Given the description of an element on the screen output the (x, y) to click on. 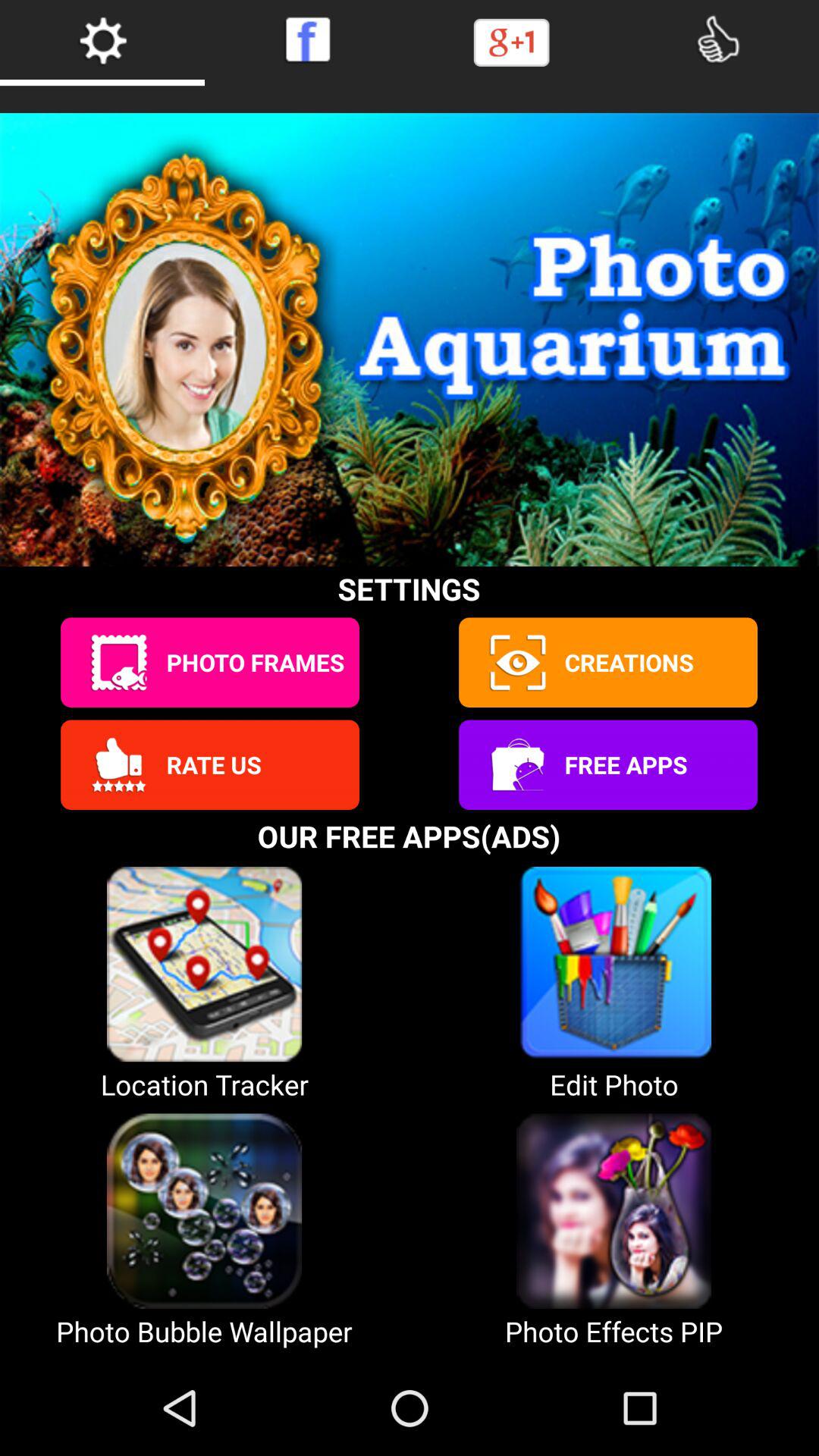
toggle settings (102, 39)
